Given the description of an element on the screen output the (x, y) to click on. 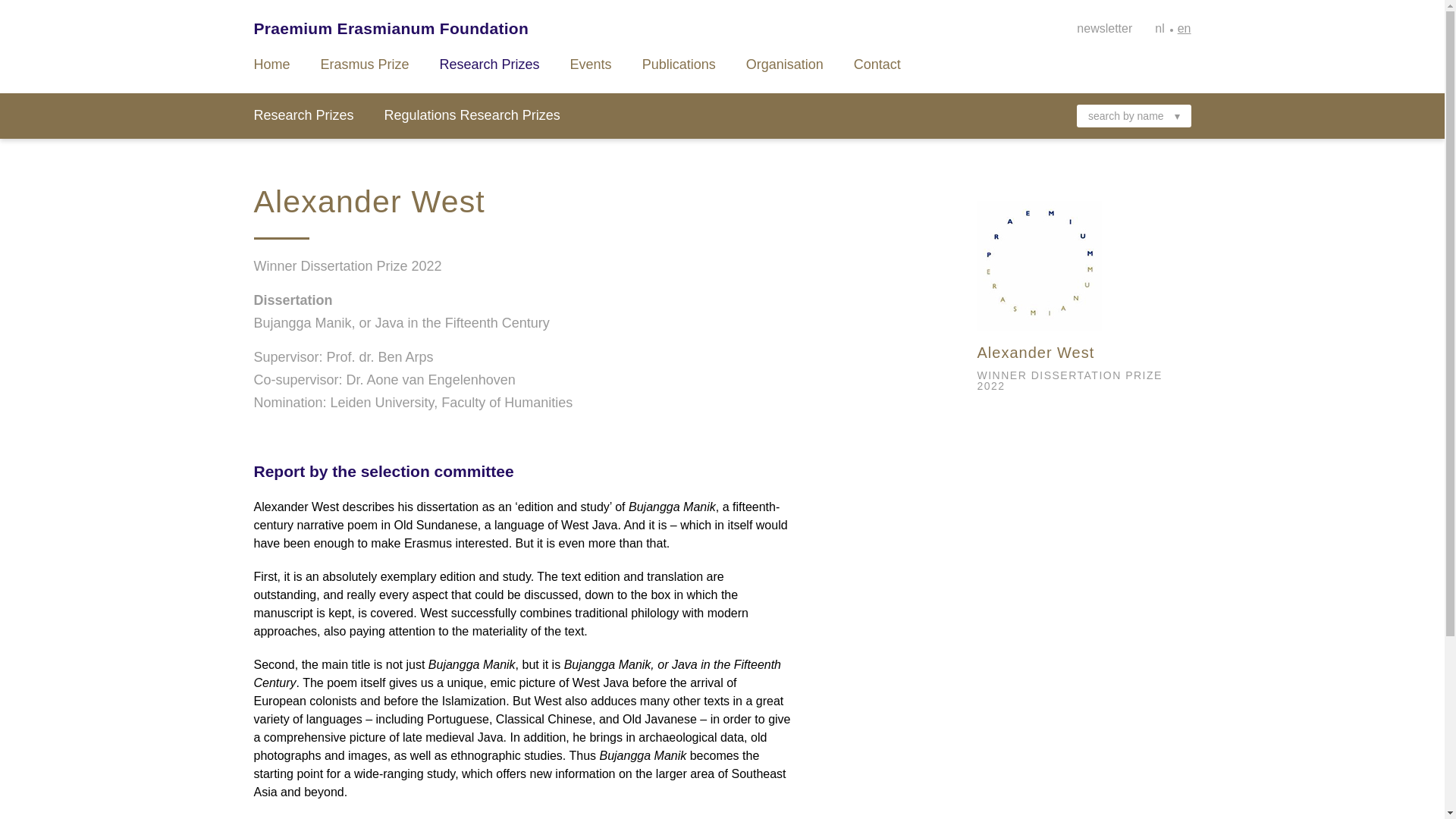
Home (271, 64)
en (1184, 28)
Research Prizes (489, 64)
Events (590, 64)
Regulations Research Prizes (472, 115)
Praemium Erasmianum Foundation (390, 28)
Contact (877, 64)
Erasmus Prize (364, 64)
newsletter (1104, 28)
Research Prizes (303, 115)
EN (1184, 28)
Organisation (784, 64)
Publications (679, 64)
